Given the description of an element on the screen output the (x, y) to click on. 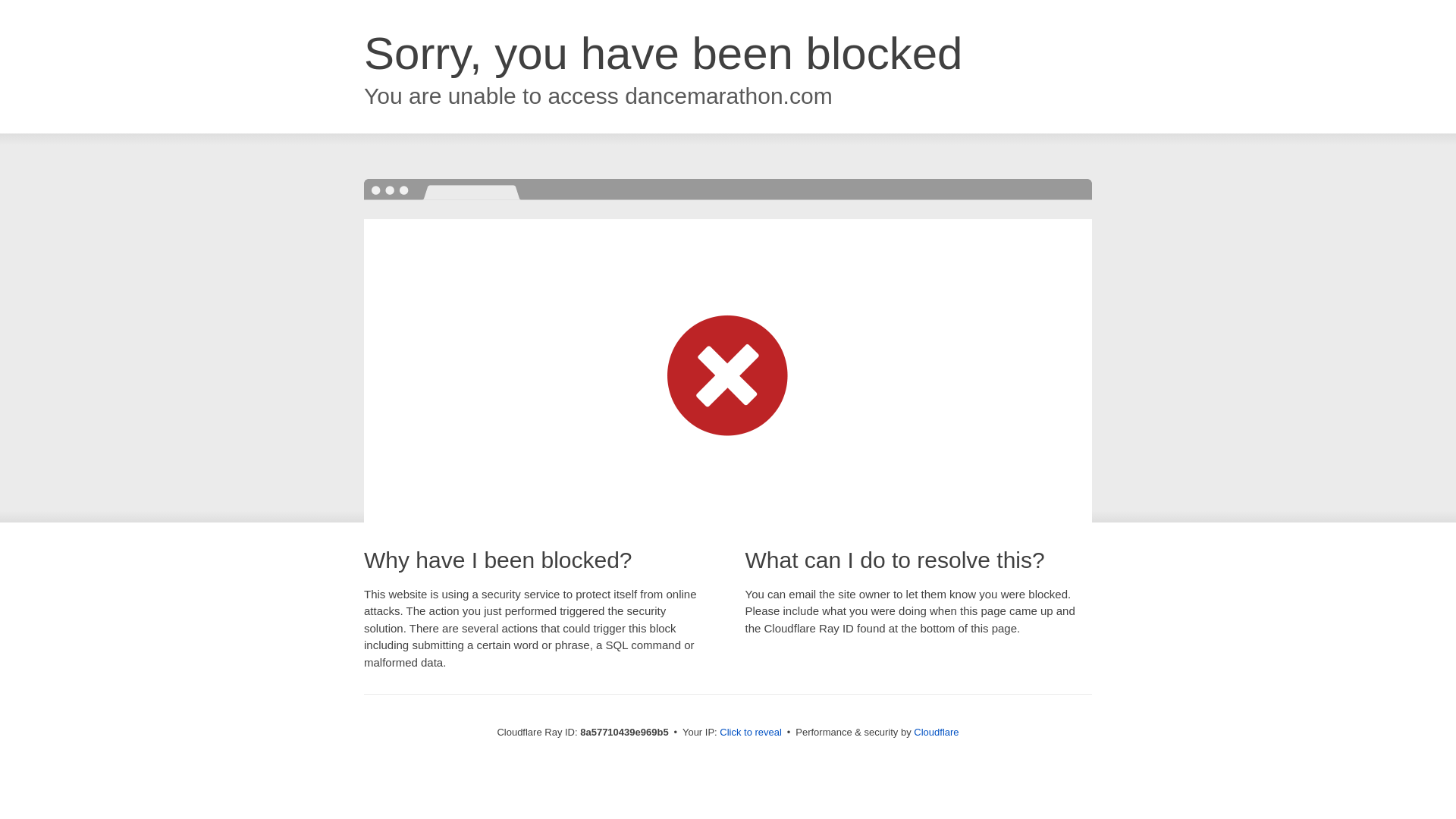
Click to reveal (750, 732)
Cloudflare (936, 731)
